Given the description of an element on the screen output the (x, y) to click on. 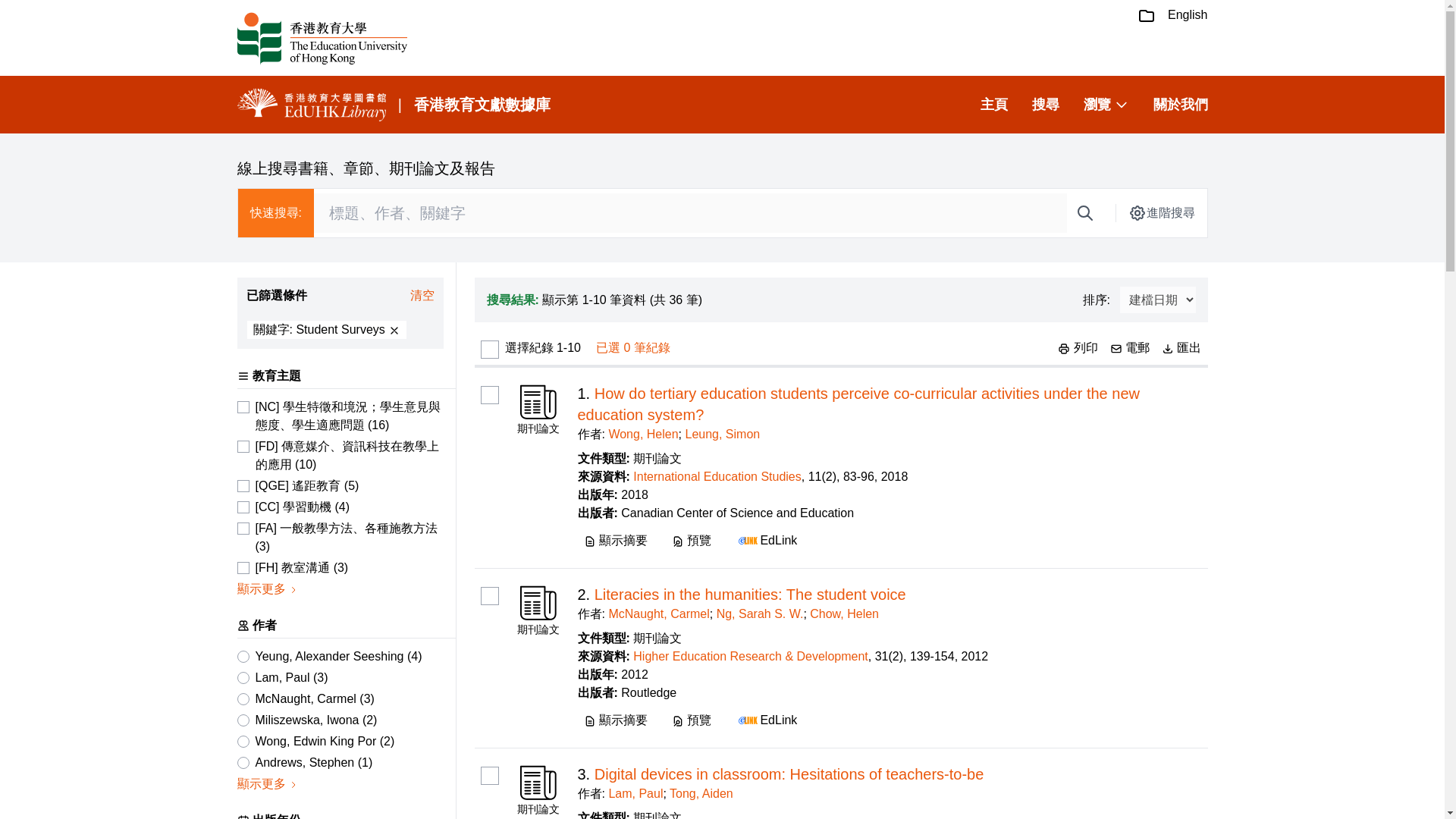
Wong, Helen (643, 433)
International Education Studies (716, 476)
Leung, Simon (722, 433)
English (1187, 14)
